Given the description of an element on the screen output the (x, y) to click on. 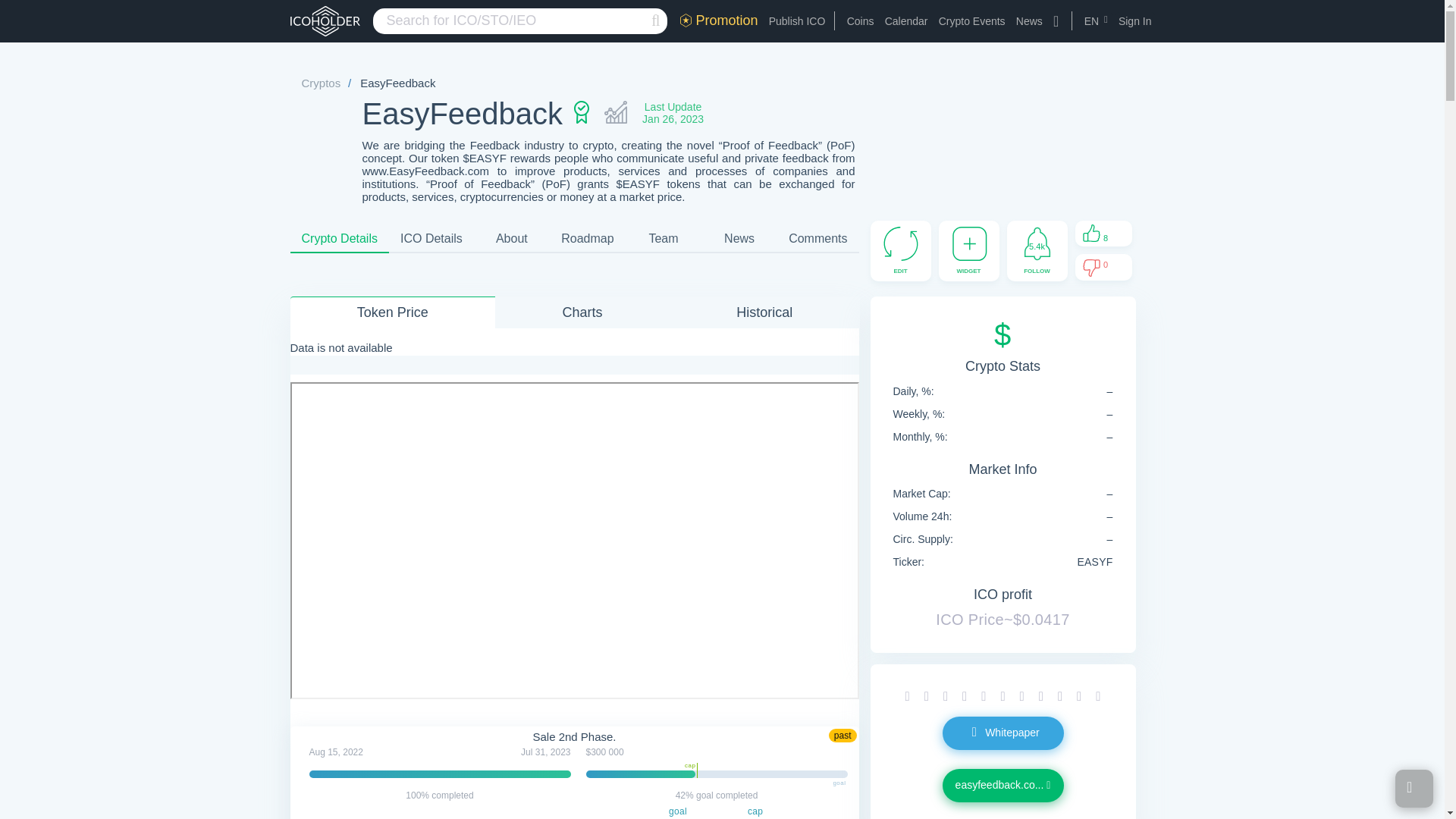
Sign In (1134, 21)
 In-depth analysis - No  (615, 113)
Publish ICO (796, 21)
Team (663, 238)
Comments (818, 238)
Calendar (906, 21)
ICO Details (431, 238)
ICO Details (431, 238)
News (1029, 21)
Notification icon Created using Figma (1036, 243)
